Given the description of an element on the screen output the (x, y) to click on. 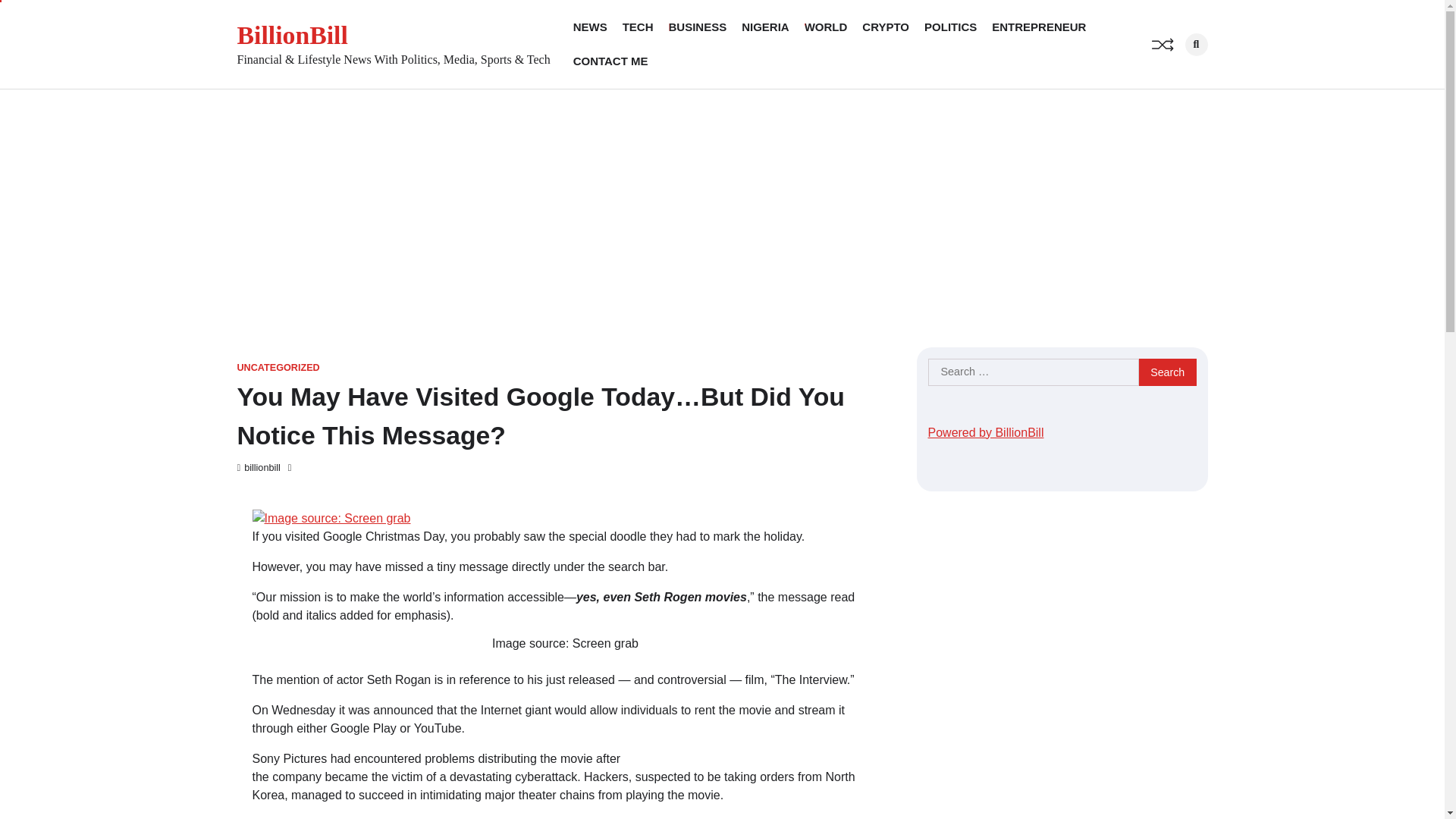
billionbill (257, 467)
ENTREPRENEUR (1038, 27)
WORLD (826, 27)
UNCATEGORIZED (276, 367)
Search (1196, 44)
Search (1170, 76)
NIGERIA (765, 27)
POLITICS (950, 27)
Powered by BillionBill (985, 431)
NEWS (590, 27)
CONTACT ME (610, 61)
Search (1167, 371)
TECH (638, 27)
Search (1167, 371)
